Given the description of an element on the screen output the (x, y) to click on. 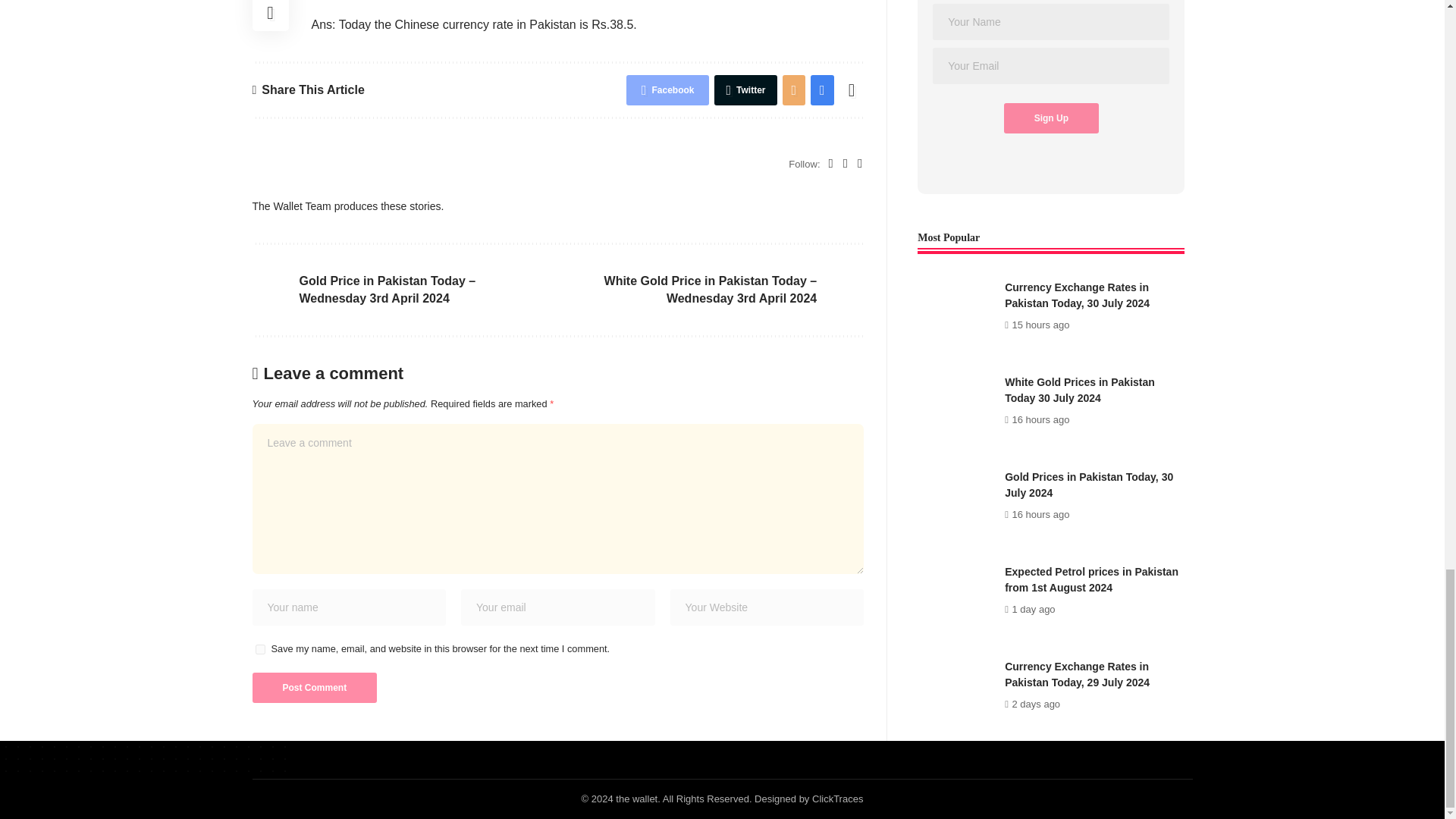
Post Comment (314, 687)
yes (259, 649)
